Given the description of an element on the screen output the (x, y) to click on. 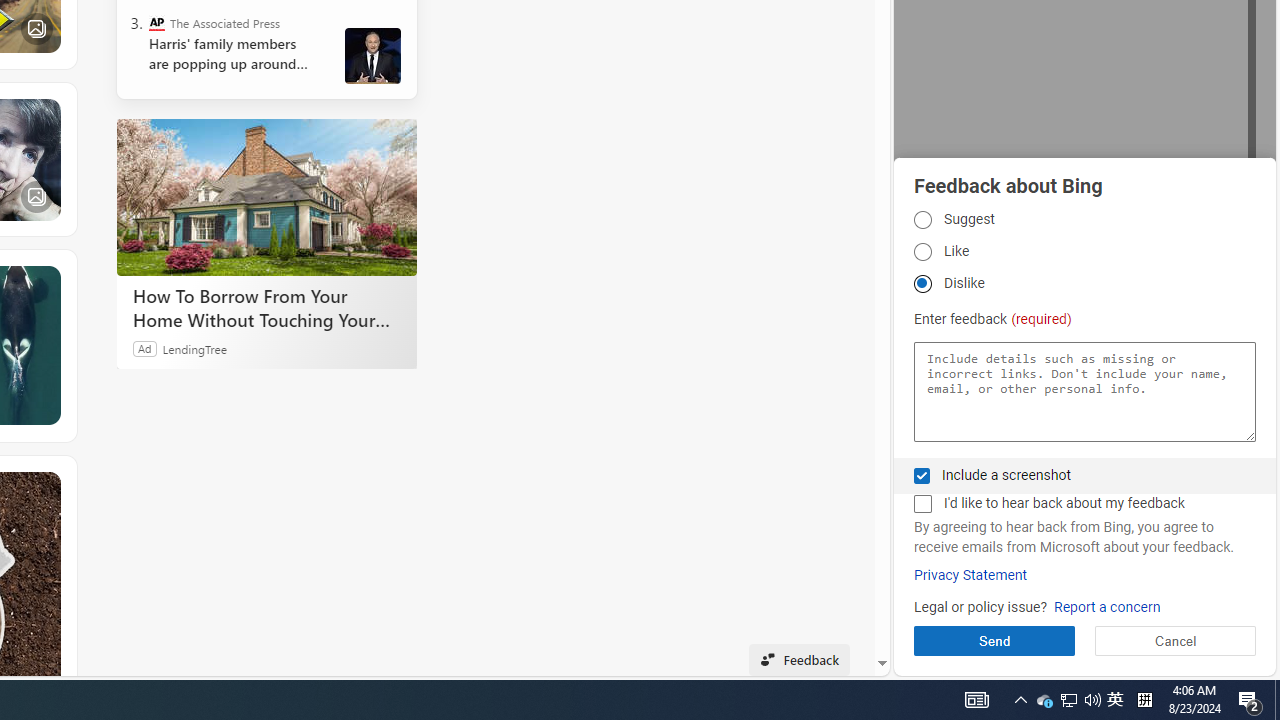
Suggest Suggest (922, 219)
Report a concern (1106, 607)
Dislike Dislike (922, 284)
AutomationID: fbpgdgtp2 (922, 251)
Privacy Statement (970, 575)
Send (994, 640)
AutomationID: fbpgdgtp3 (922, 284)
AutomationID: fbpgdgtp1 (922, 219)
AutomationID: fbpgdgsschk (921, 475)
AutomationID: fbpgdgcmchk (922, 503)
Cancel (1174, 640)
Include a screenshot Include a screenshot (921, 475)
Like Like (922, 251)
